Given the description of an element on the screen output the (x, y) to click on. 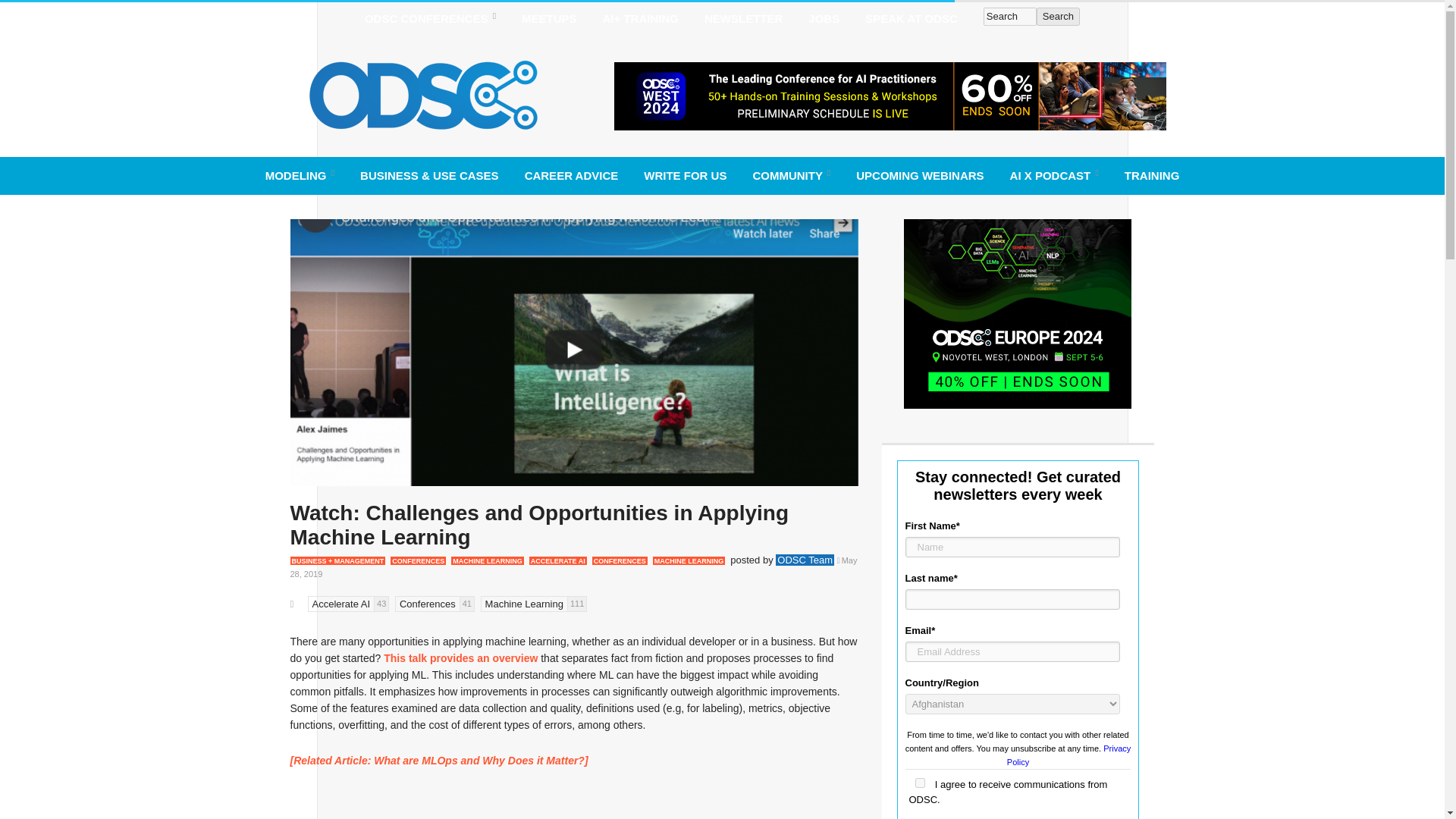
MEETUPS (548, 18)
MEETUPS (548, 18)
WRITE FOR US (684, 175)
JOBS (822, 18)
Modeling (299, 175)
UPCOMING WEBINARS (919, 175)
Jobs (822, 18)
ODSC CONFERENCES (430, 18)
Search (1058, 16)
ODSC Conferences (430, 18)
